Given the description of an element on the screen output the (x, y) to click on. 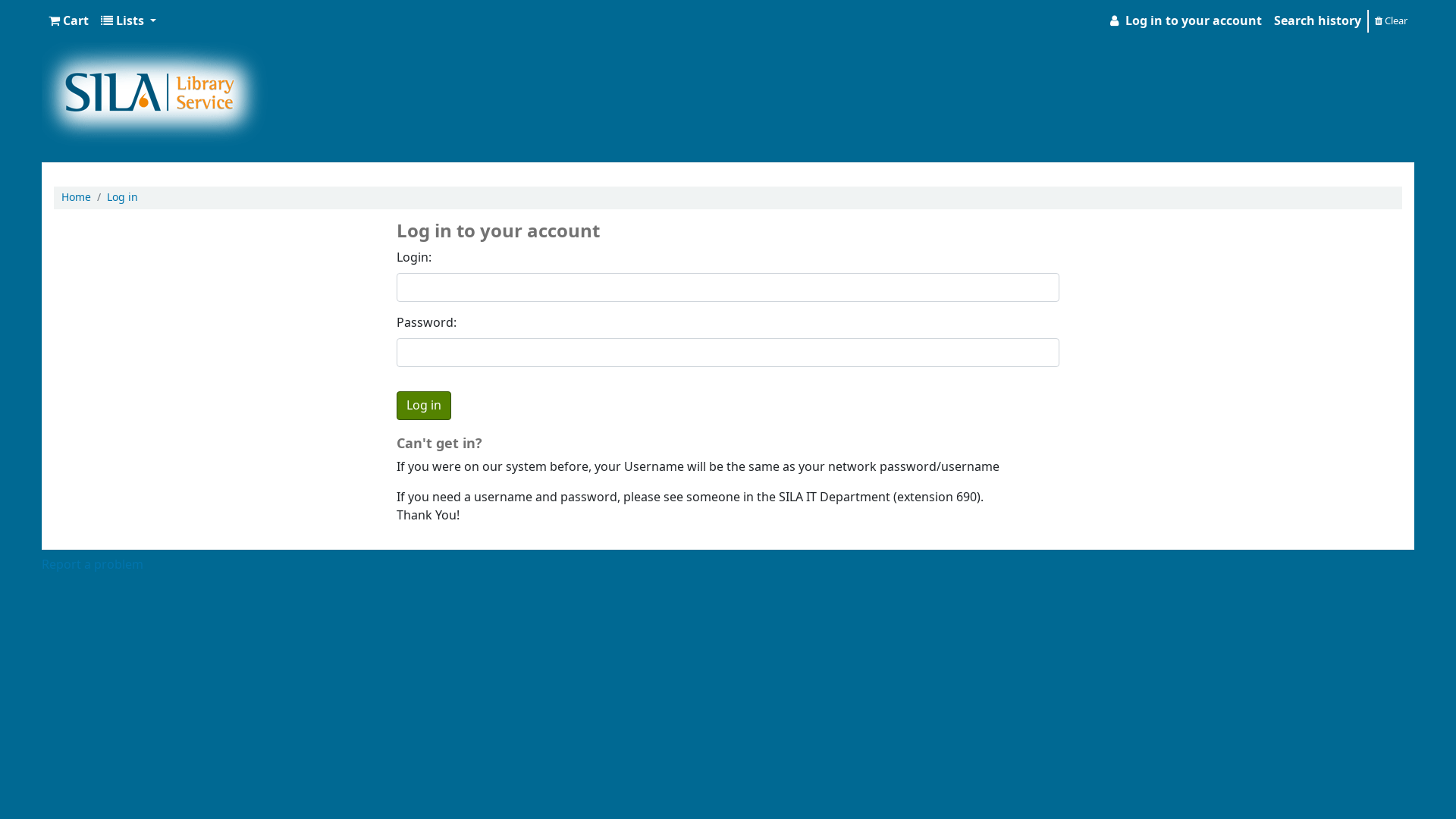
Log in Element type: text (423, 405)
Lists Element type: text (128, 21)
Cart Element type: text (68, 21)
Home Element type: text (76, 197)
Clear Element type: text (1390, 20)
Search history Element type: text (1317, 21)
Report a problem Element type: text (92, 564)
Log in to your account Element type: text (1183, 21)
Log in Element type: text (122, 197)
